Given the description of an element on the screen output the (x, y) to click on. 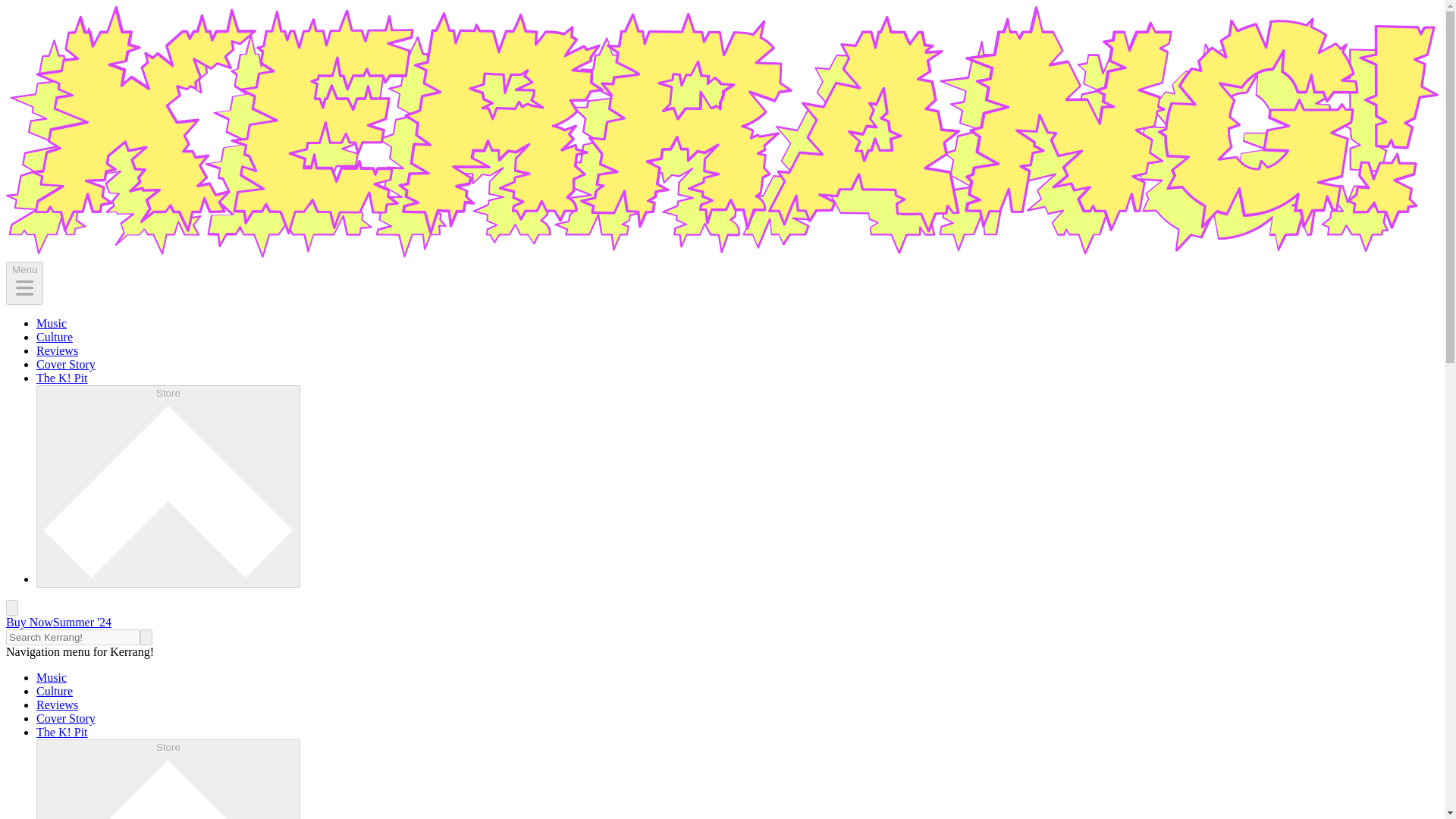
Buy NowSummer '24 (58, 621)
The K! Pit (61, 731)
Music (51, 676)
Cover Story (66, 717)
Cover Story (66, 364)
Store (167, 779)
Reviews (57, 704)
Music (51, 323)
Reviews (57, 350)
Store (167, 486)
Culture (54, 690)
The K! Pit (61, 377)
Culture (54, 336)
